Given the description of an element on the screen output the (x, y) to click on. 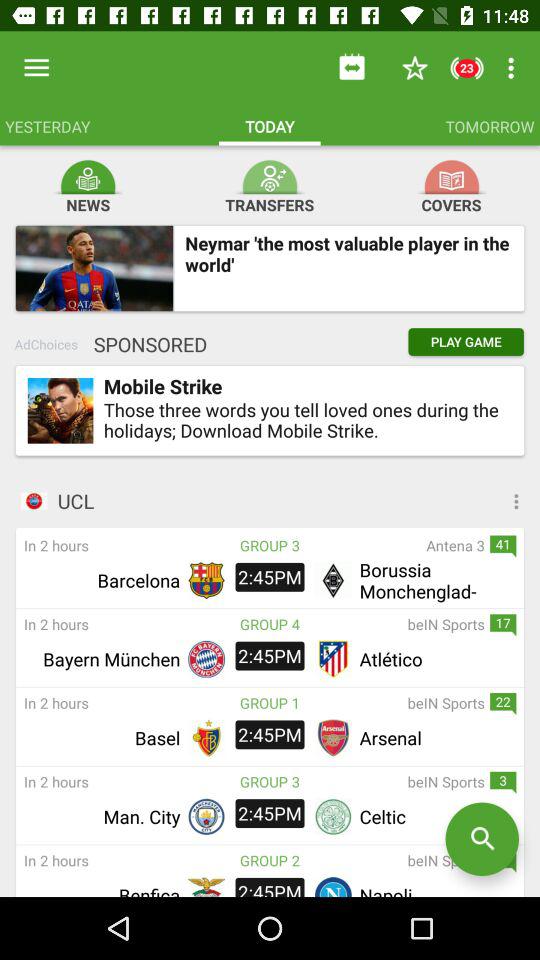
see menu (441, 501)
